Given the description of an element on the screen output the (x, y) to click on. 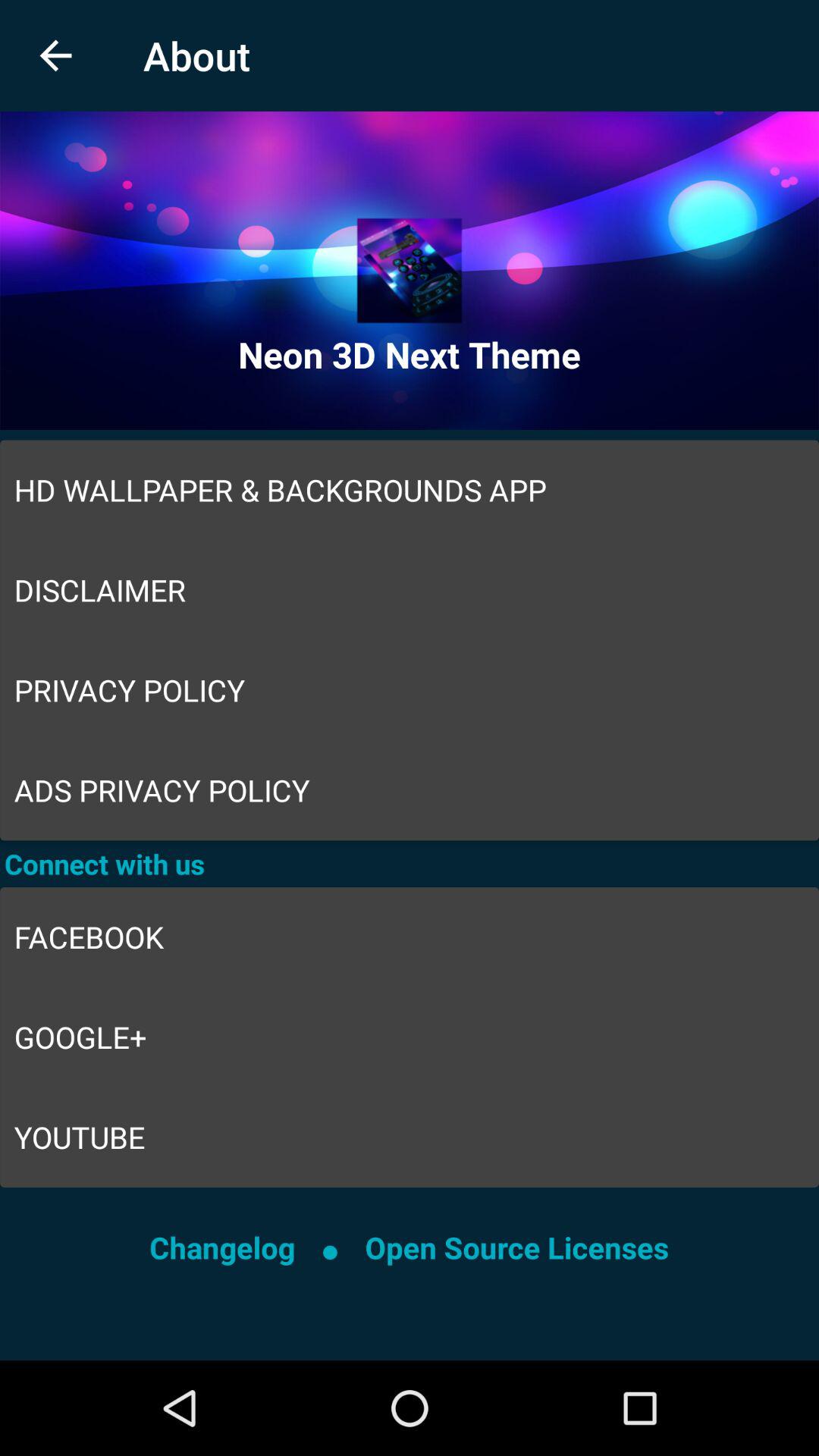
turn on the item below facebook (409, 1037)
